Given the description of an element on the screen output the (x, y) to click on. 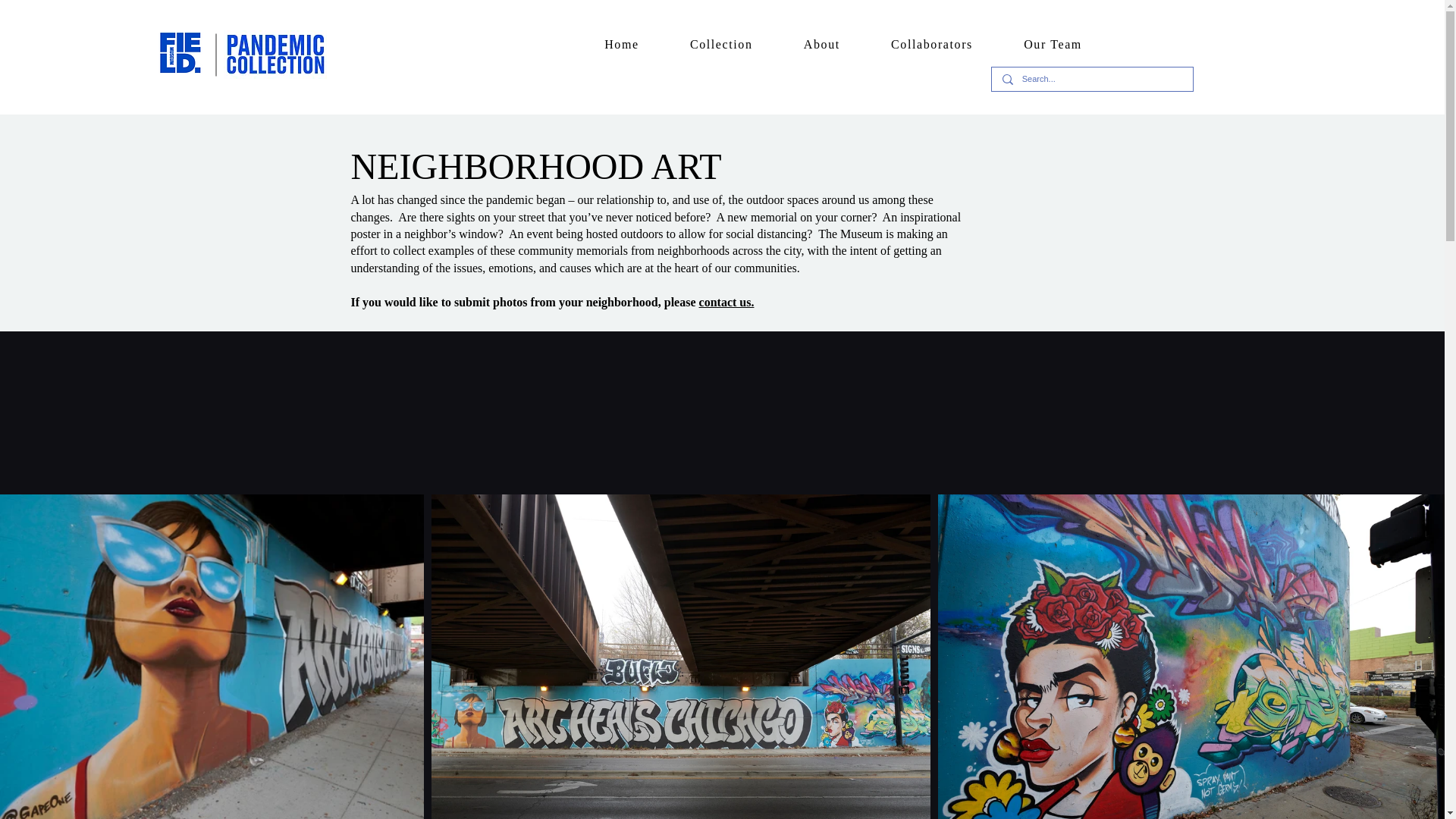
Our Team (1053, 45)
contact us. (726, 301)
Home (622, 45)
